Given the description of an element on the screen output the (x, y) to click on. 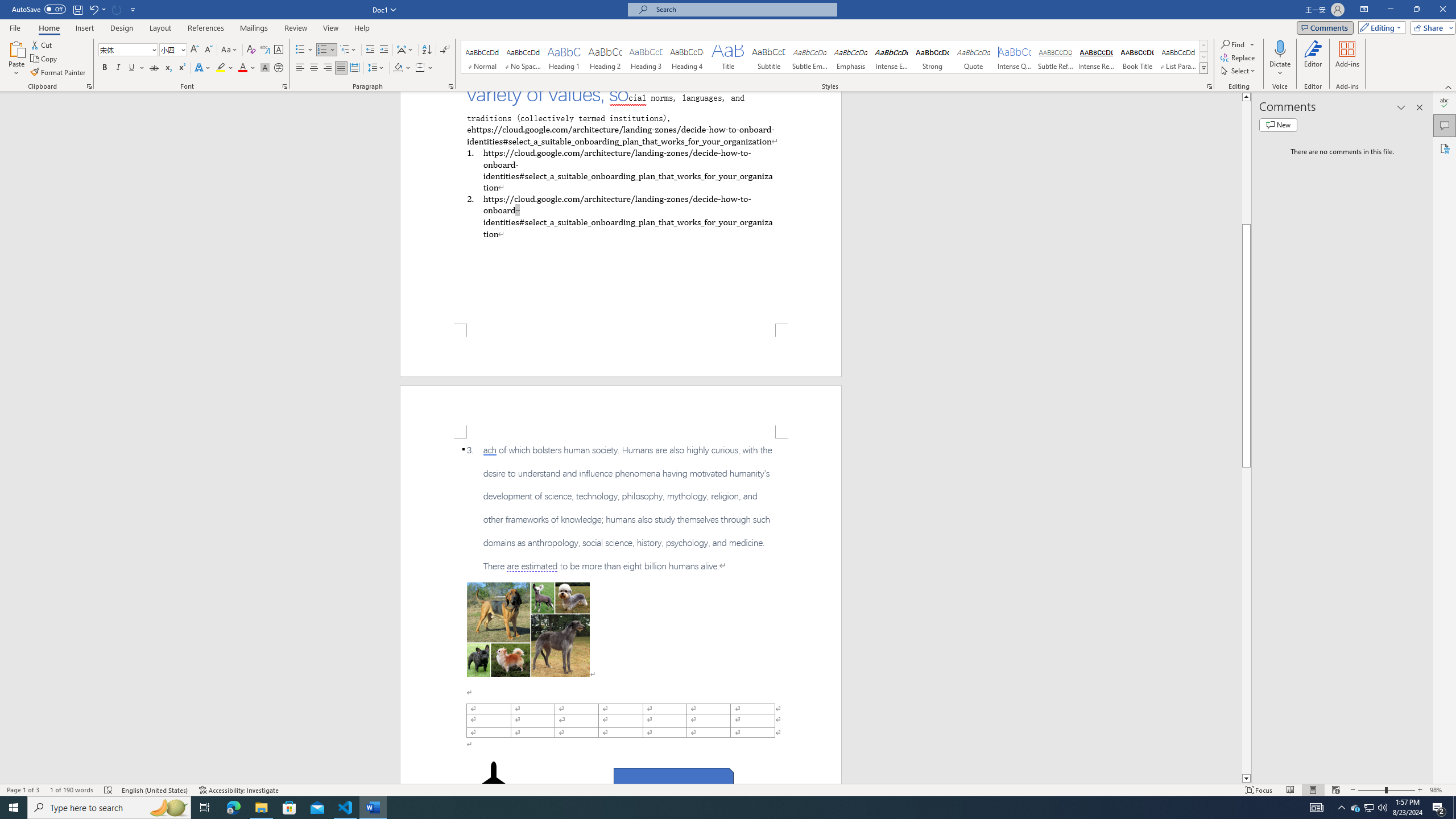
Sort... (426, 49)
